Given the description of an element on the screen output the (x, y) to click on. 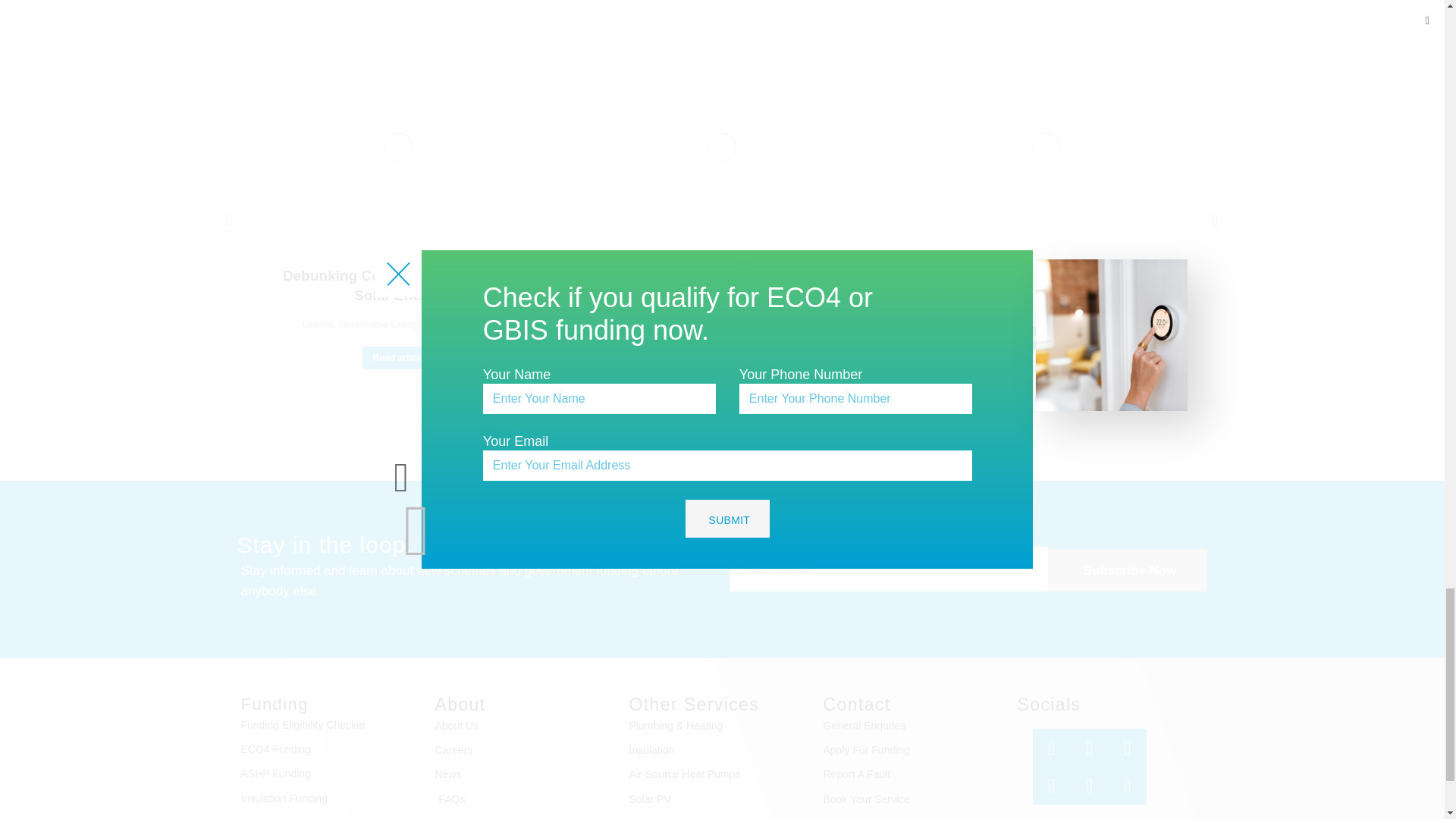
2:50 pm (461, 324)
Debunking Common Myths About Solar Energy (398, 286)
10:07 am (783, 324)
